Given the description of an element on the screen output the (x, y) to click on. 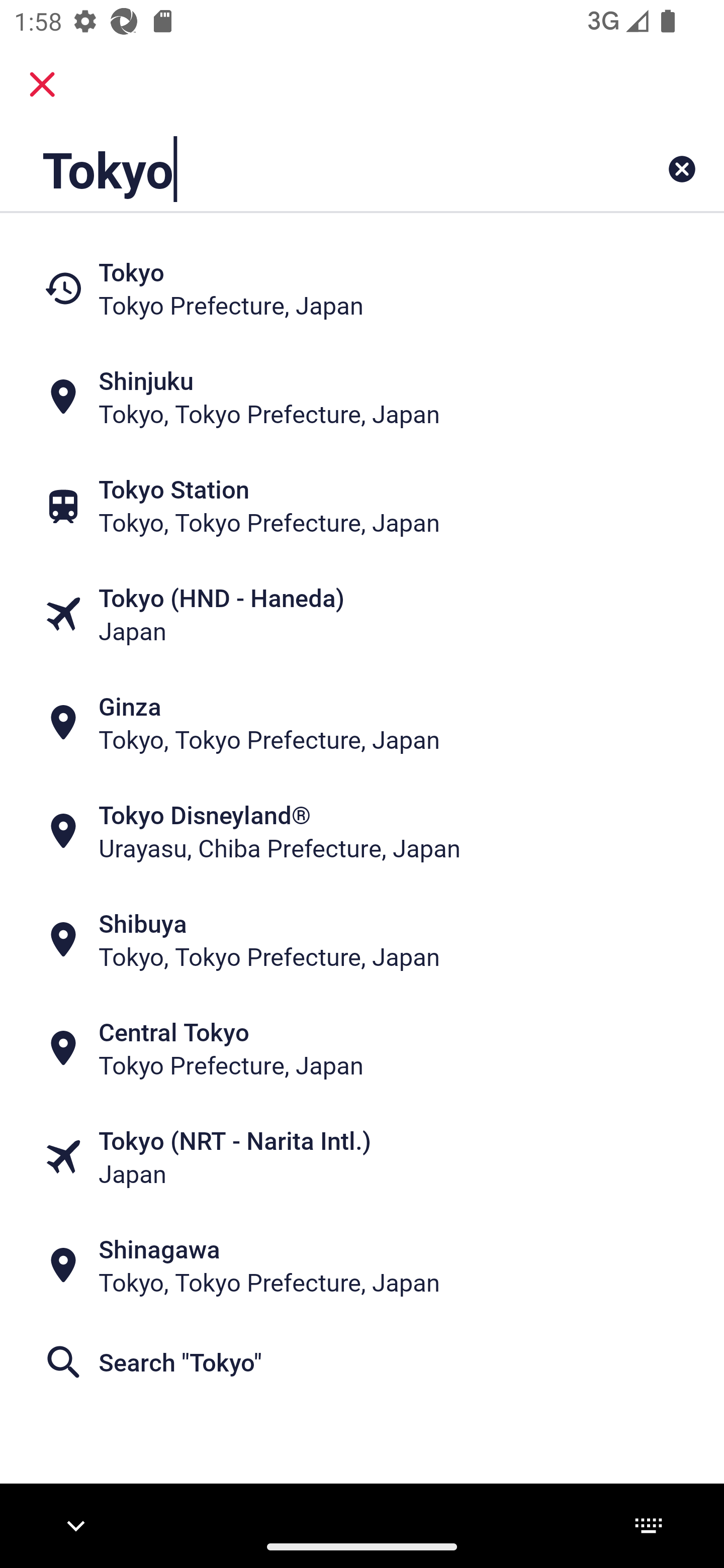
close. (42, 84)
Clear (681, 169)
Tokyo (298, 169)
Tokyo Tokyo Prefecture, Japan (362, 288)
Shinjuku Tokyo, Tokyo Prefecture, Japan (362, 397)
Tokyo Station Tokyo, Tokyo Prefecture, Japan (362, 505)
Tokyo (HND - Haneda) Japan (362, 613)
Ginza Tokyo, Tokyo Prefecture, Japan (362, 722)
Tokyo Disneyland® Urayasu, Chiba Prefecture, Japan (362, 831)
Shibuya Tokyo, Tokyo Prefecture, Japan (362, 939)
Central Tokyo Tokyo Prefecture, Japan (362, 1048)
Tokyo (NRT - Narita Intl.) Japan (362, 1156)
Shinagawa Tokyo, Tokyo Prefecture, Japan (362, 1265)
Search "Tokyo" (362, 1362)
